Given the description of an element on the screen output the (x, y) to click on. 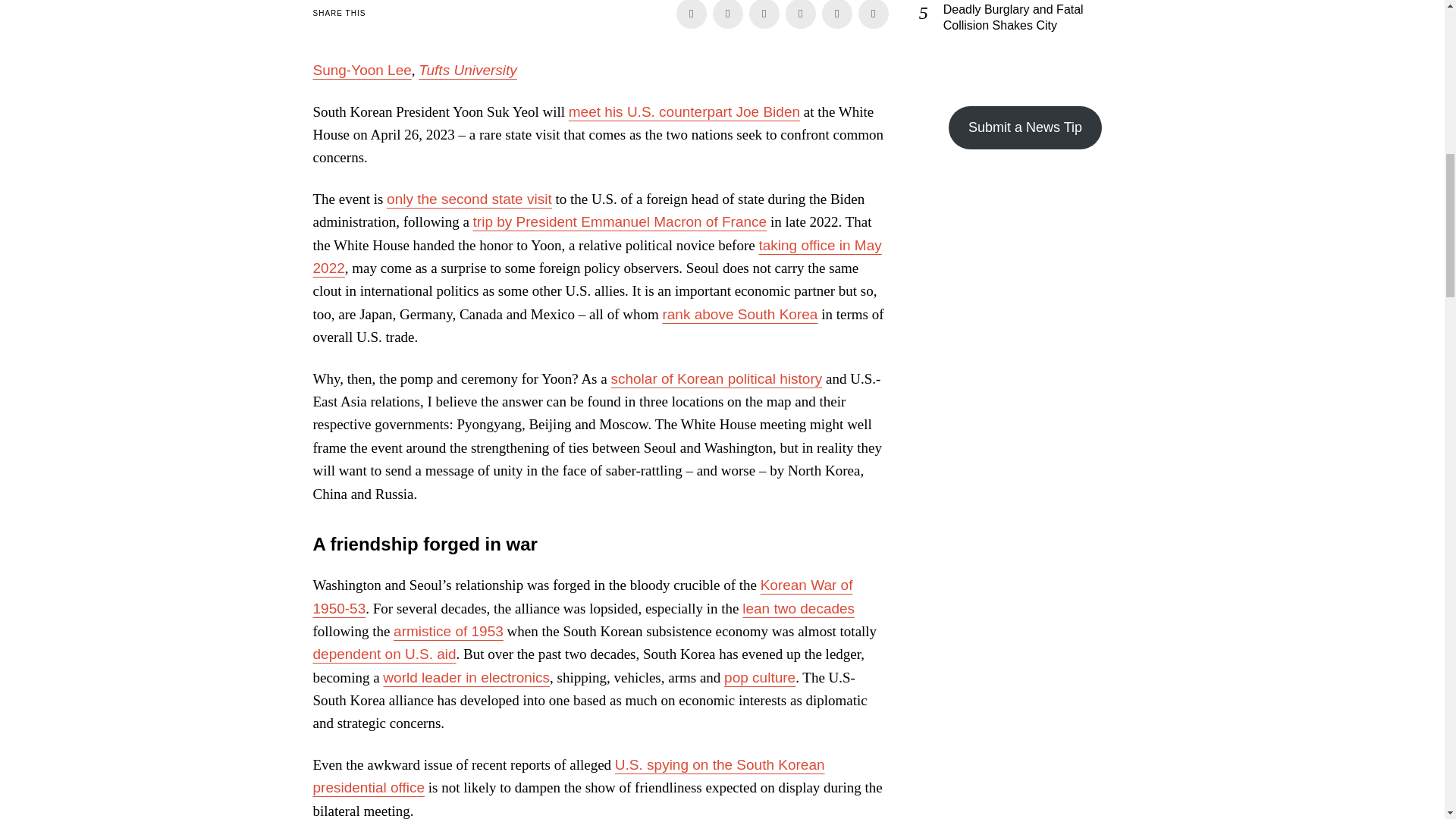
only the second state visit (469, 198)
meet his U.S. counterpart Joe Biden (684, 111)
taking office in May 2022 (596, 256)
Korean War of 1950-53 (582, 596)
scholar of Korean political history (716, 378)
Sung-Yoon Lee (361, 69)
trip by President Emmanuel Macron of France (620, 221)
rank above South Korea (739, 314)
Tufts University (467, 69)
